Given the description of an element on the screen output the (x, y) to click on. 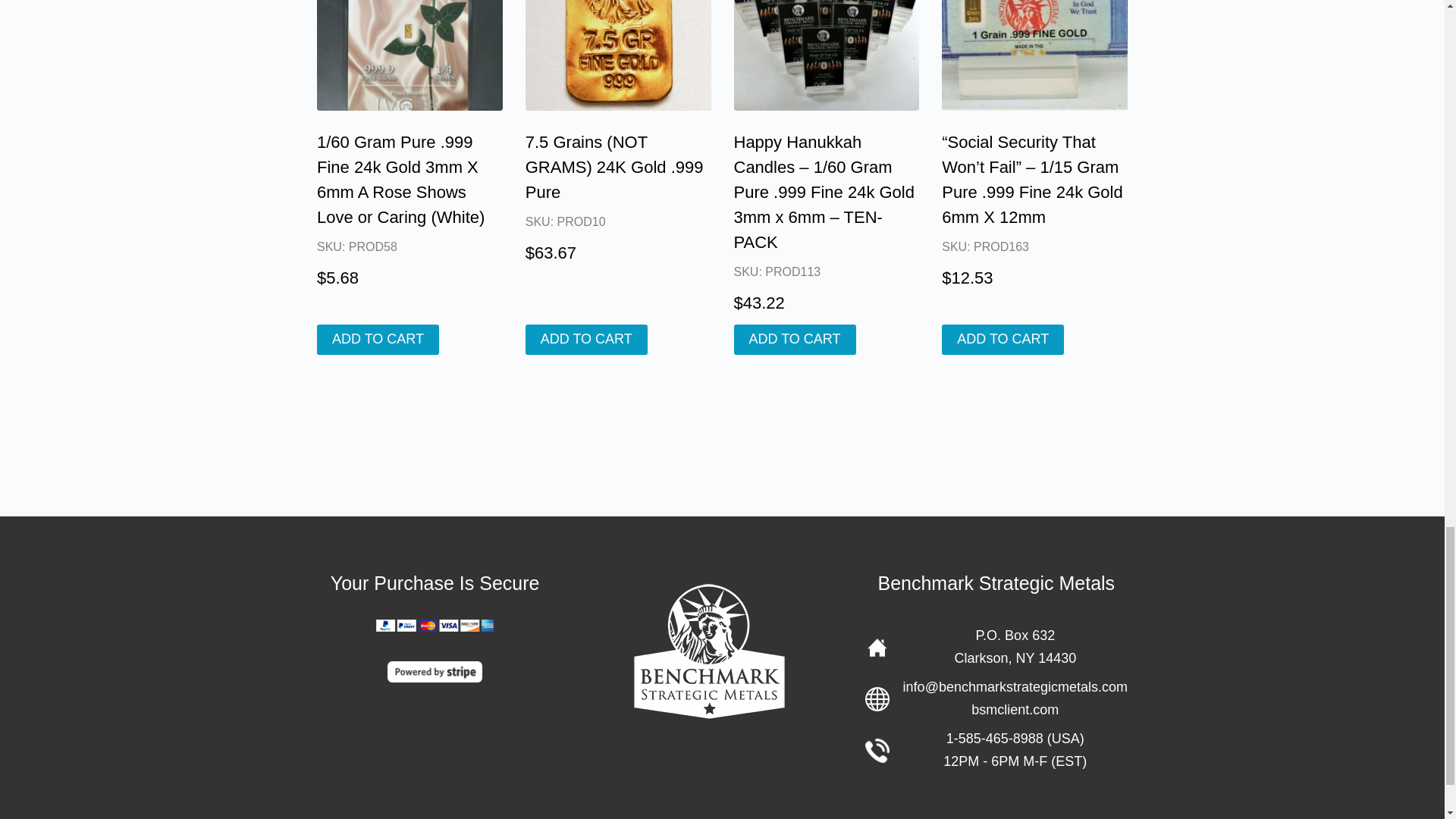
ADD TO CART (378, 339)
candles 10-pack front (826, 55)
front (1034, 55)
7.5-grain-bar.jpg (618, 55)
ADD TO CART (586, 339)
ADD TO CART (794, 339)
front-9.jpg (409, 55)
